Given the description of an element on the screen output the (x, y) to click on. 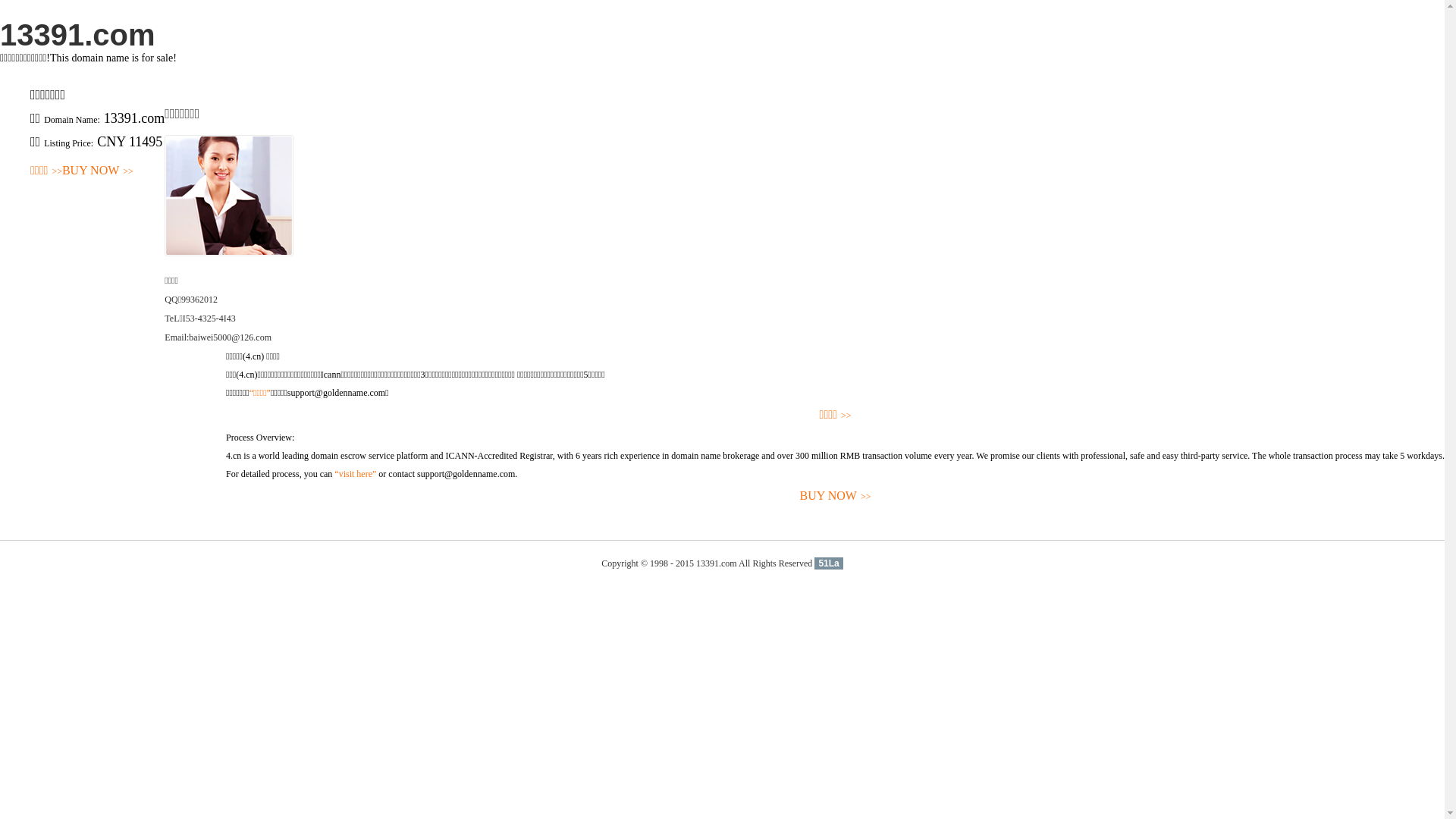
BUY NOW>> Element type: text (834, 496)
51La Element type: text (828, 563)
BUY NOW>> Element type: text (97, 170)
